Given the description of an element on the screen output the (x, y) to click on. 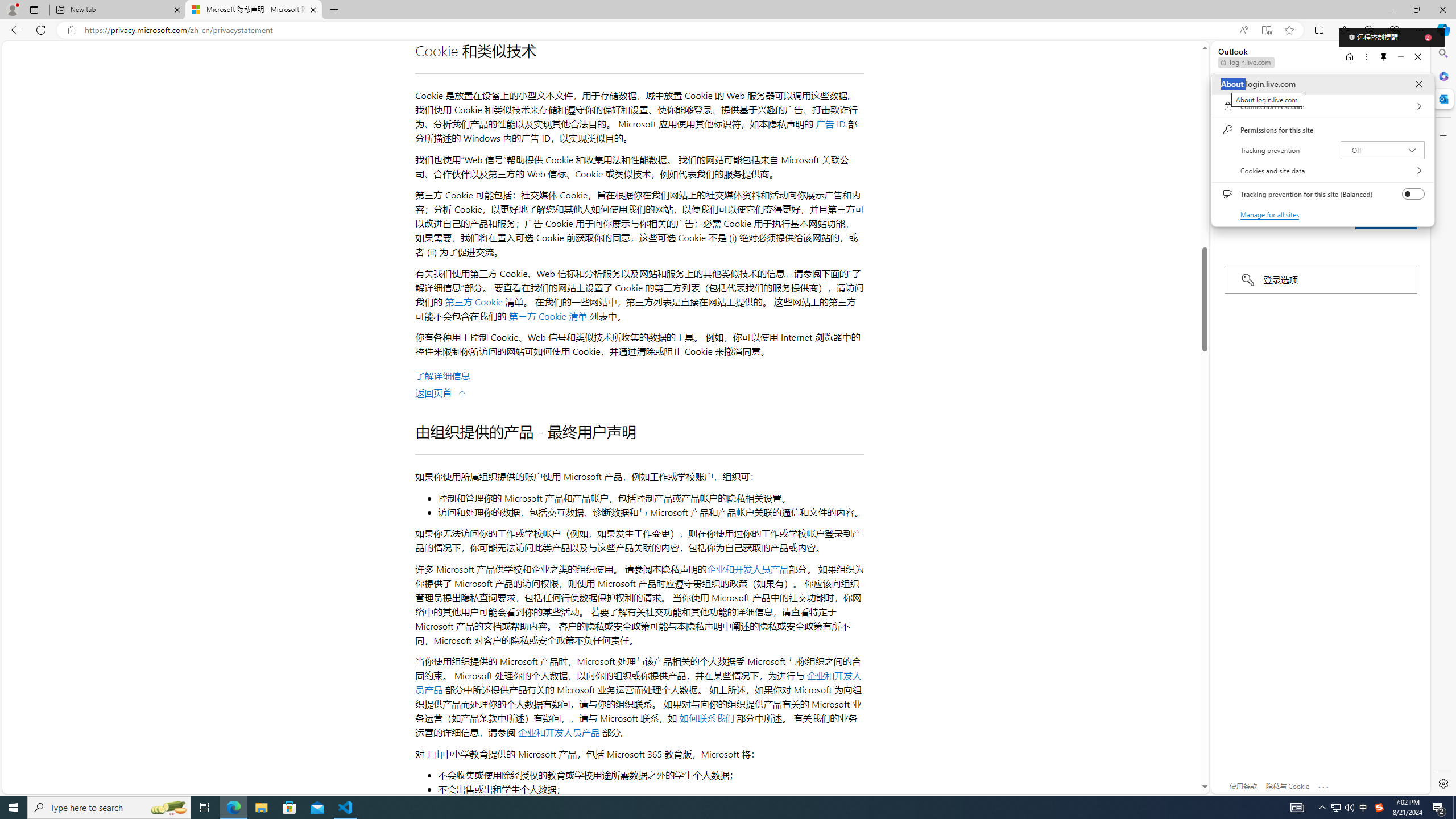
Connection is secure (1322, 105)
Permissions for this site (1322, 129)
Tracking prevention for this site (Balanced) (1413, 193)
Manage for all sites (1270, 214)
Tracking prevention Off (1382, 149)
Cookies and site data (1322, 170)
